Given the description of an element on the screen output the (x, y) to click on. 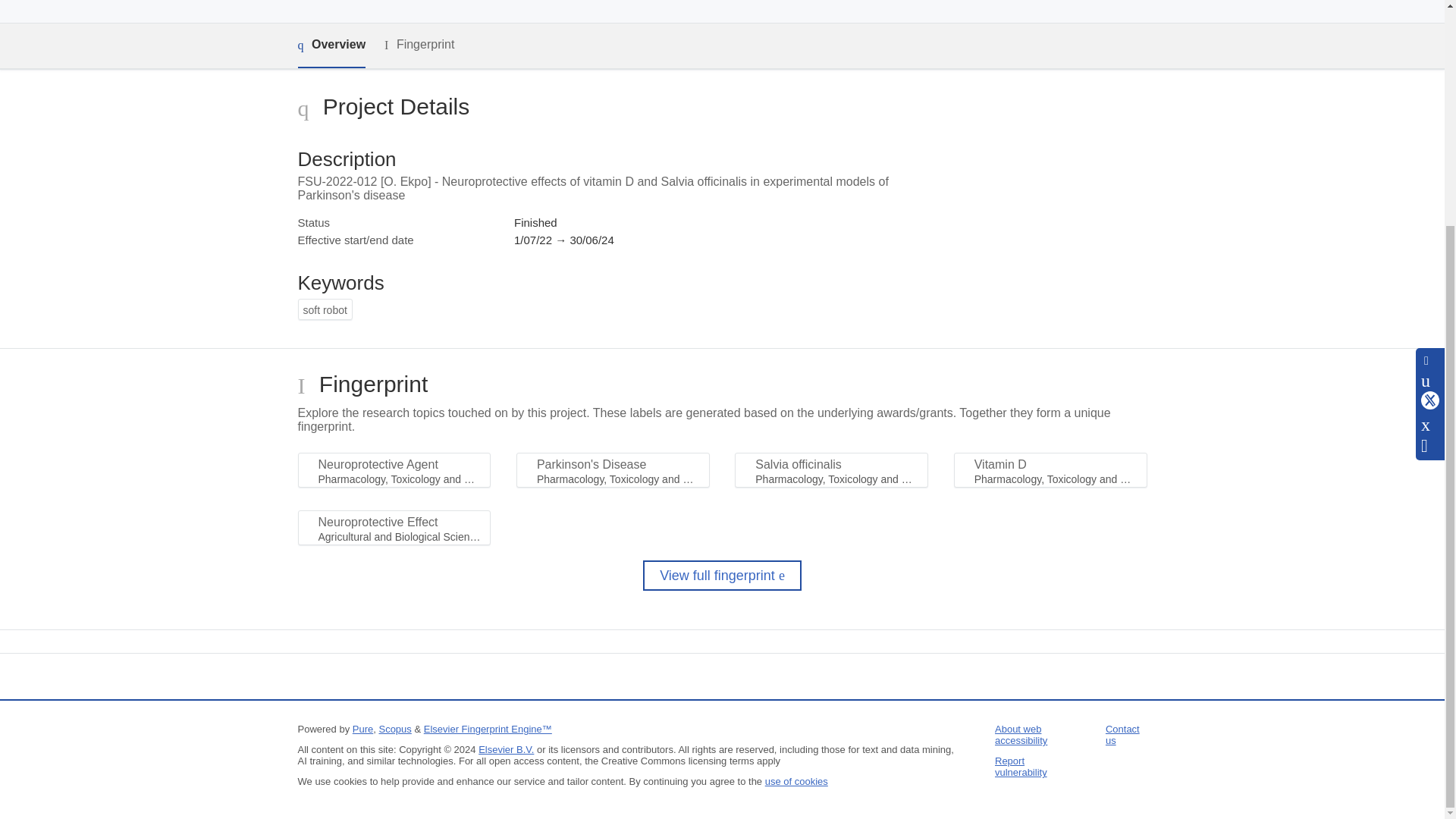
use of cookies (796, 781)
Report vulnerability (1020, 766)
Scopus (394, 728)
Elsevier B.V. (506, 749)
View full fingerprint (722, 575)
Pure (362, 728)
About web accessibility (1020, 734)
Contact us (1122, 734)
Fingerprint (419, 44)
Overview (331, 45)
